Given the description of an element on the screen output the (x, y) to click on. 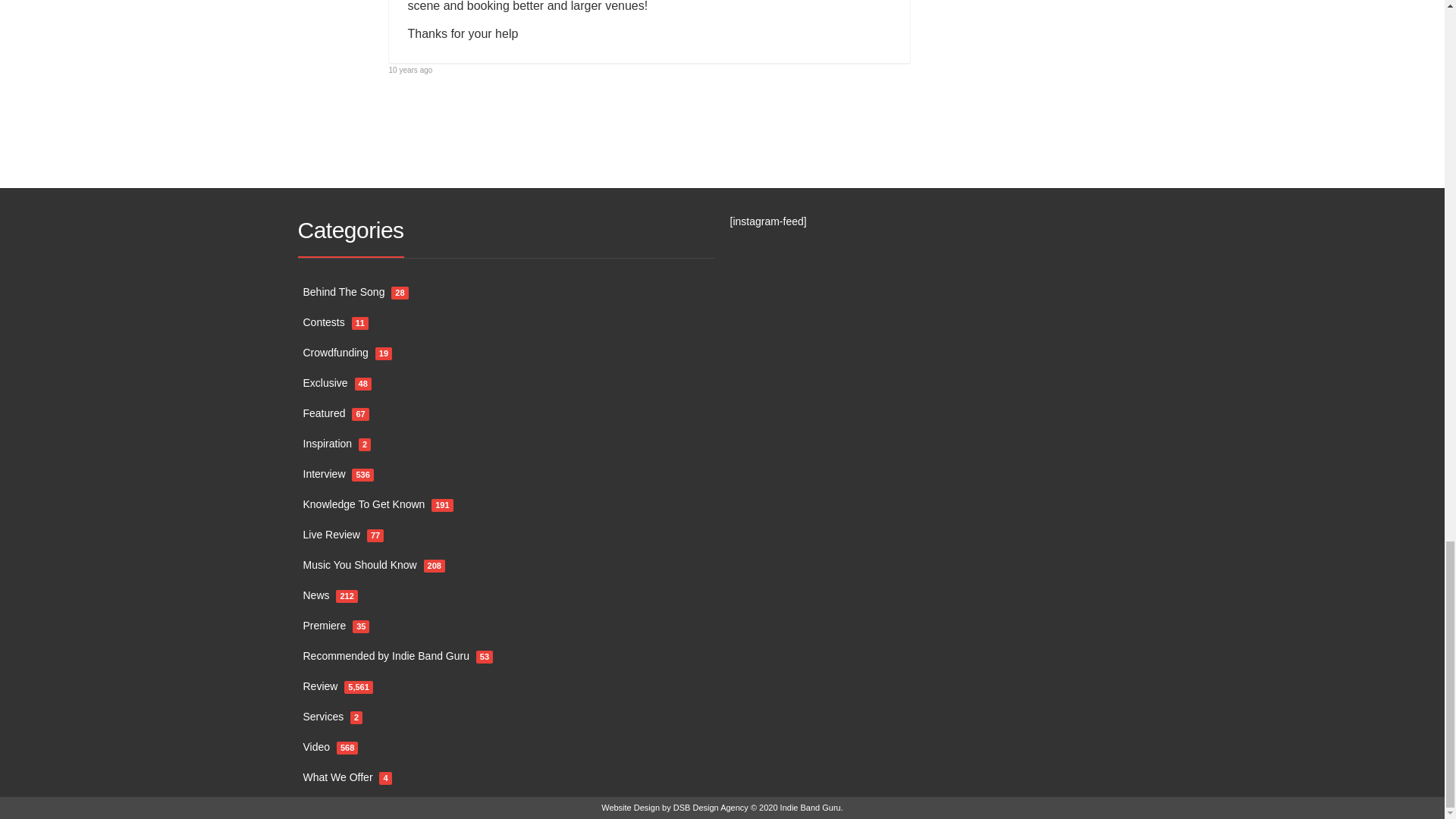
Behind The Song (343, 292)
Contests (323, 322)
Crowdfunding (335, 353)
Exclusive (324, 383)
